Given the description of an element on the screen output the (x, y) to click on. 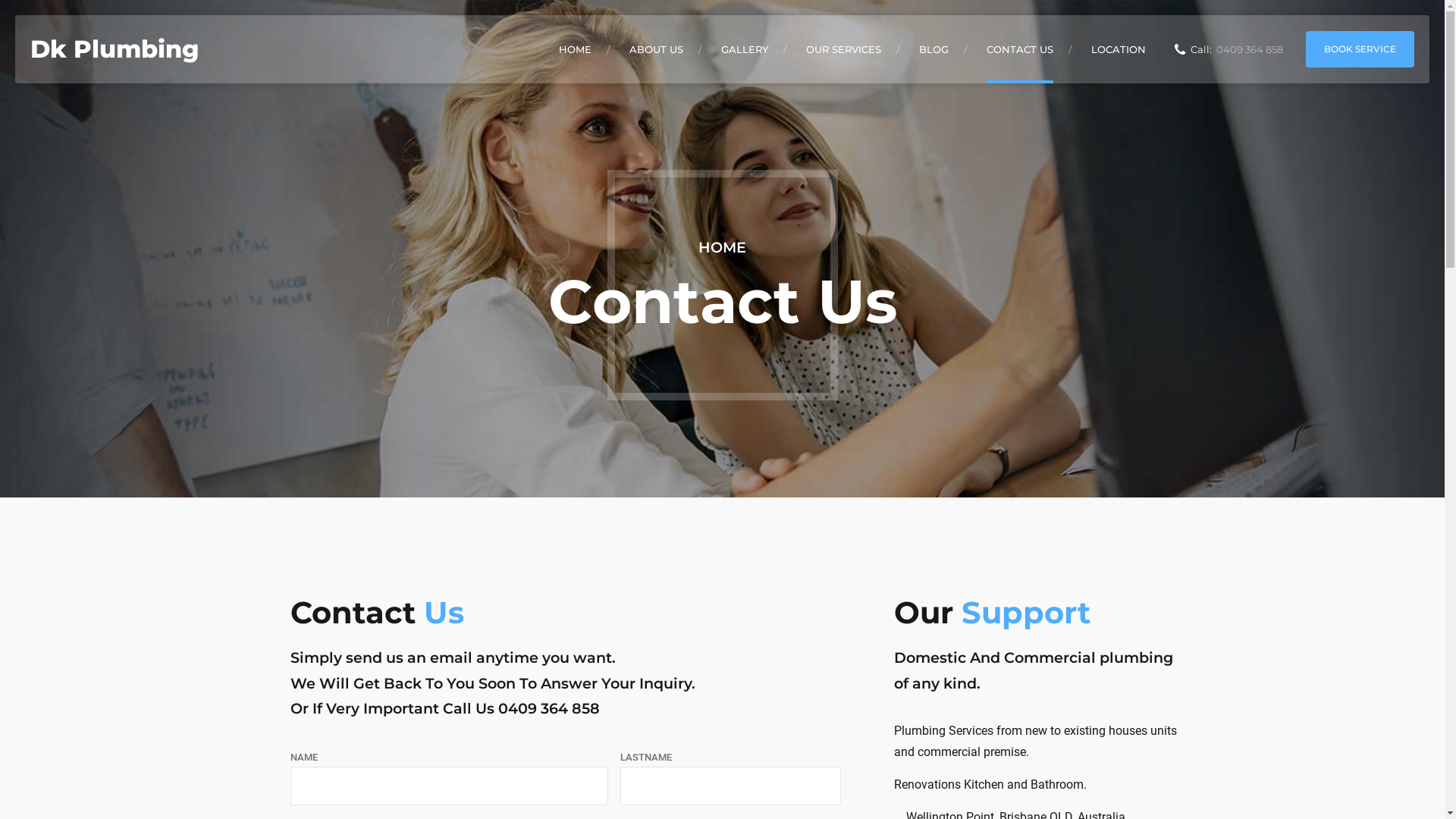
BOOK SERVICE Element type: text (1359, 49)
OUR SERVICES Element type: text (843, 49)
GALLERY Element type: text (744, 49)
CONTACT US Element type: text (1019, 49)
Contact Us Element type: text (376, 611)
HOME Element type: text (722, 247)
LOCATION Element type: text (1118, 49)
Call: 0409 364 858 Element type: text (1228, 49)
Dk Plumbing Element type: text (114, 48)
BLOG Element type: text (933, 49)
ABOUT US Element type: text (656, 49)
HOME Element type: text (574, 49)
